Given the description of an element on the screen output the (x, y) to click on. 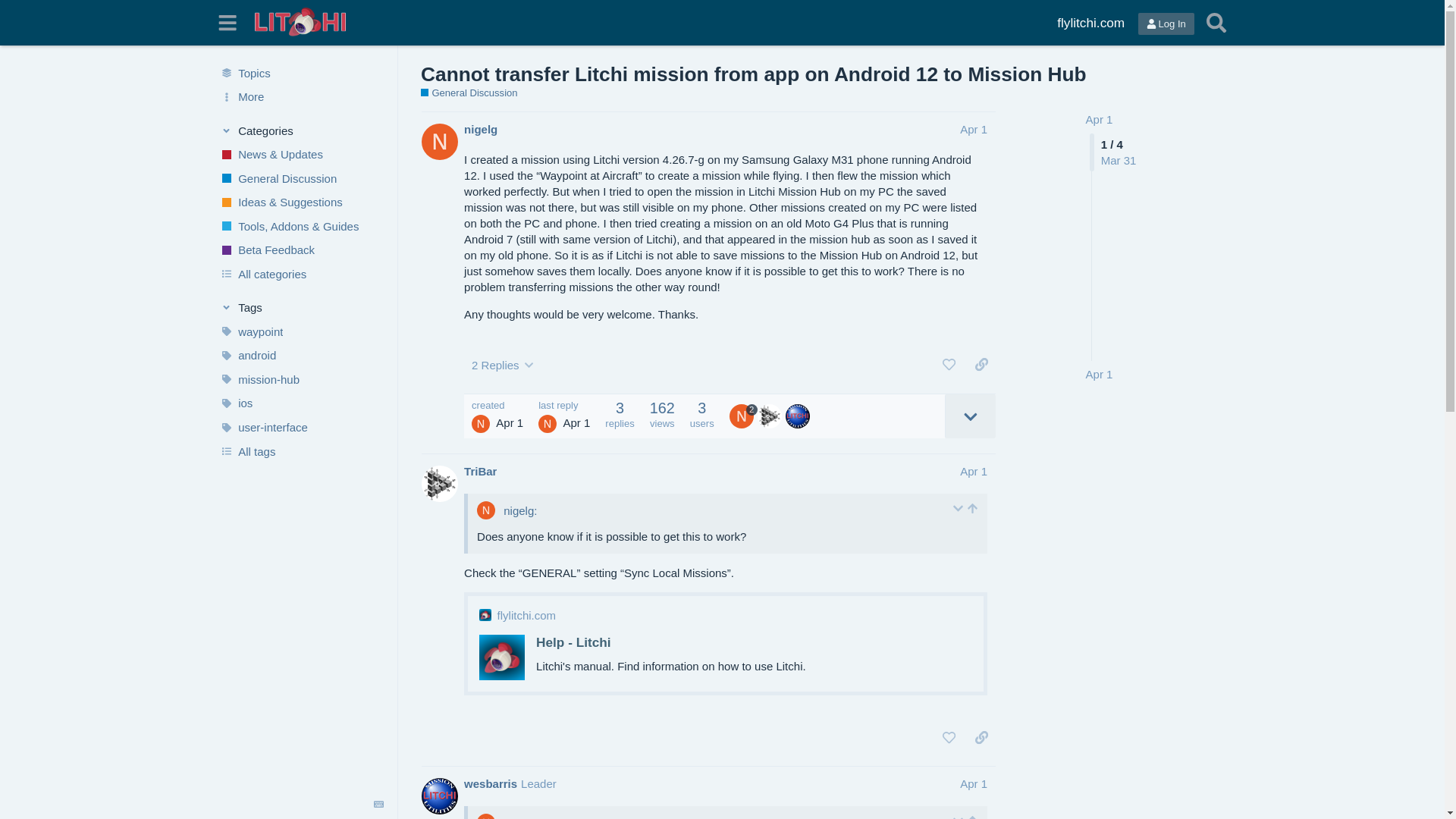
Return to flylitchi.com (1090, 22)
nigelg (480, 129)
For general topics and chats (301, 178)
For general topics and chats (468, 92)
All categories (301, 274)
Toggle section (301, 130)
All tags (301, 450)
Sidebar (227, 22)
Tags (301, 307)
